Given the description of an element on the screen output the (x, y) to click on. 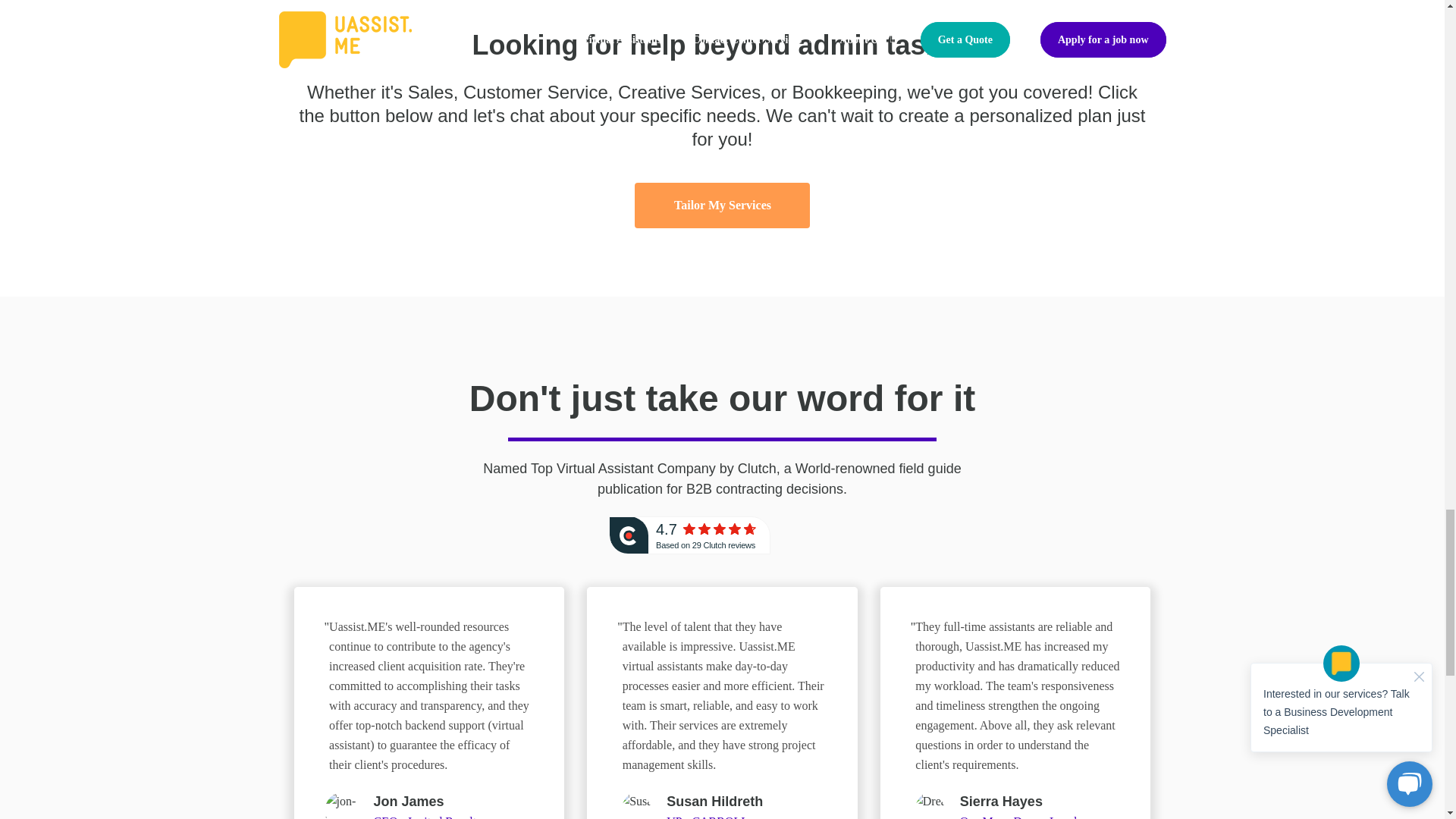
VP - CARROLL (707, 816)
Tailor My Services (721, 205)
CEO - Ignited Results (427, 816)
Ops Mgr - Dream Local (1018, 816)
